Given the description of an element on the screen output the (x, y) to click on. 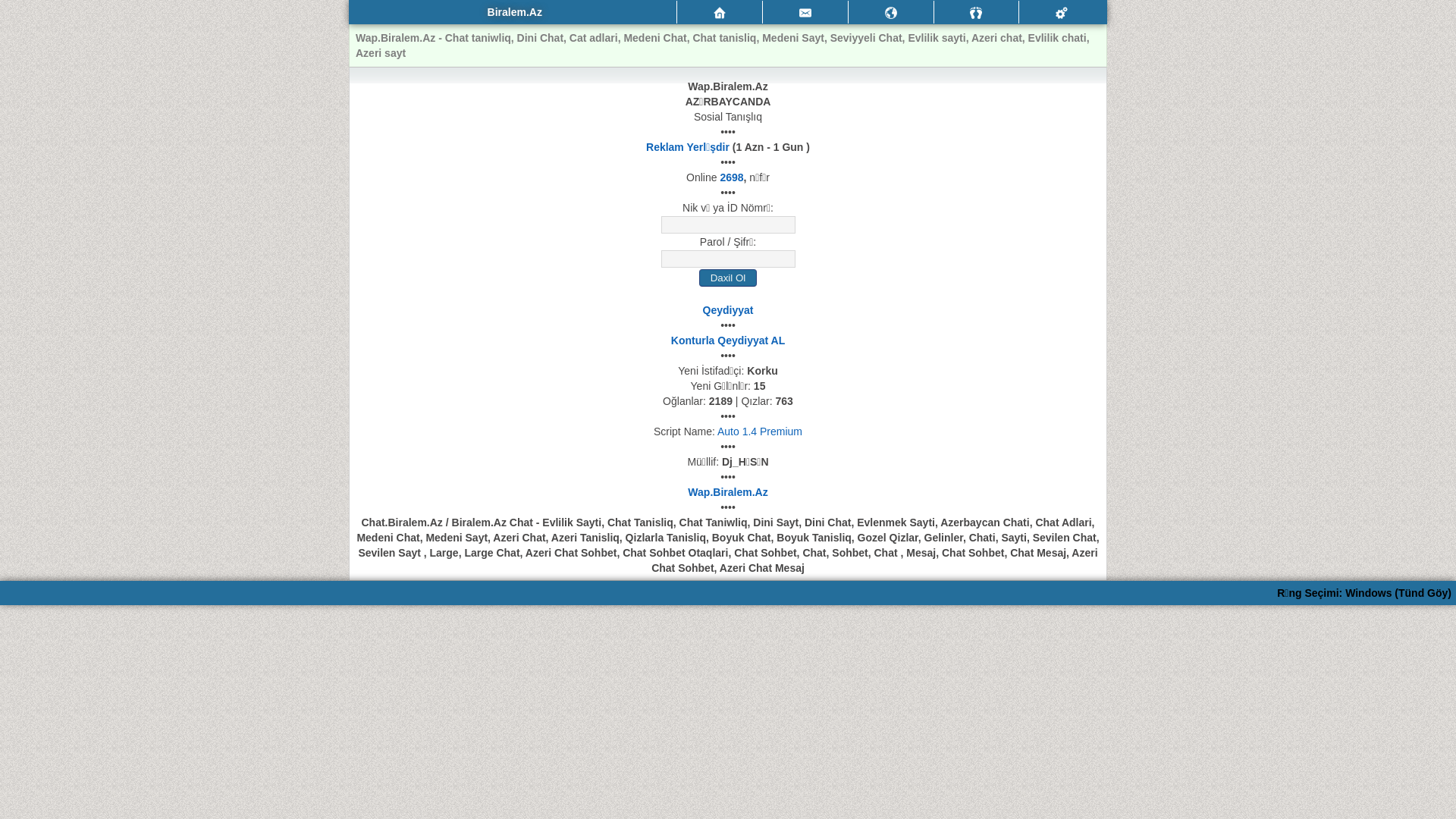
nick Element type: hover (728, 224)
Konturla Qeydiyyat AL Element type: text (727, 340)
Bildirisler Element type: hover (890, 12)
Mesajlar Element type: hover (805, 12)
Qonaqlar Element type: hover (976, 11)
Qeydiyyat Element type: text (727, 310)
Qonaqlar Element type: hover (975, 12)
Mesajlar Element type: hover (719, 11)
Wap.Biralem.Az Element type: text (727, 492)
Daxil Ol Element type: text (727, 277)
Ana Sehife Element type: hover (719, 12)
Parol Element type: hover (728, 258)
Bildirisler Element type: hover (890, 11)
2698 Element type: text (731, 177)
Mesajlar Element type: hover (804, 11)
Auto 1.4 Premium Element type: text (759, 431)
